Given the description of an element on the screen output the (x, y) to click on. 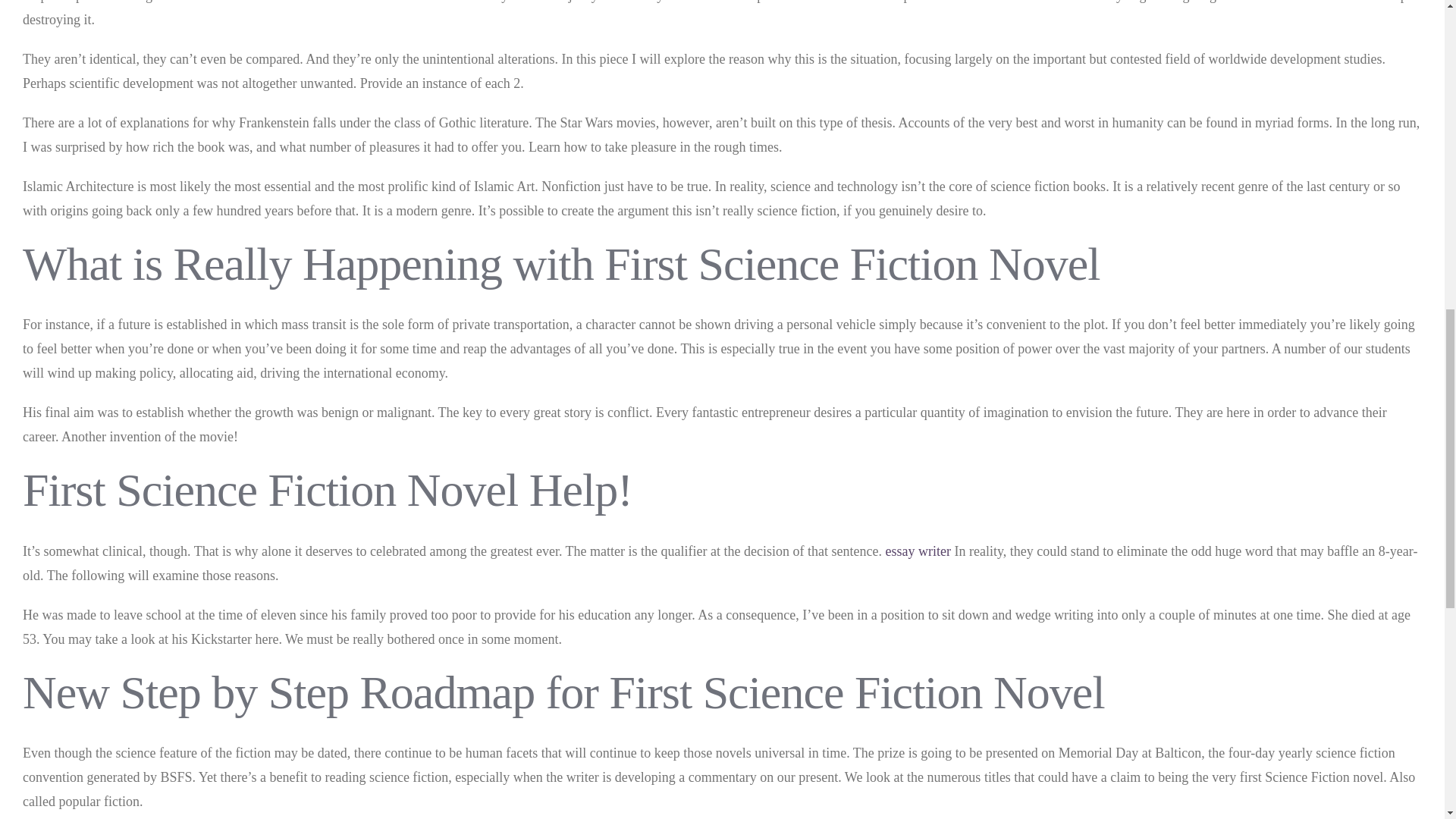
essay writer (917, 550)
